Given the description of an element on the screen output the (x, y) to click on. 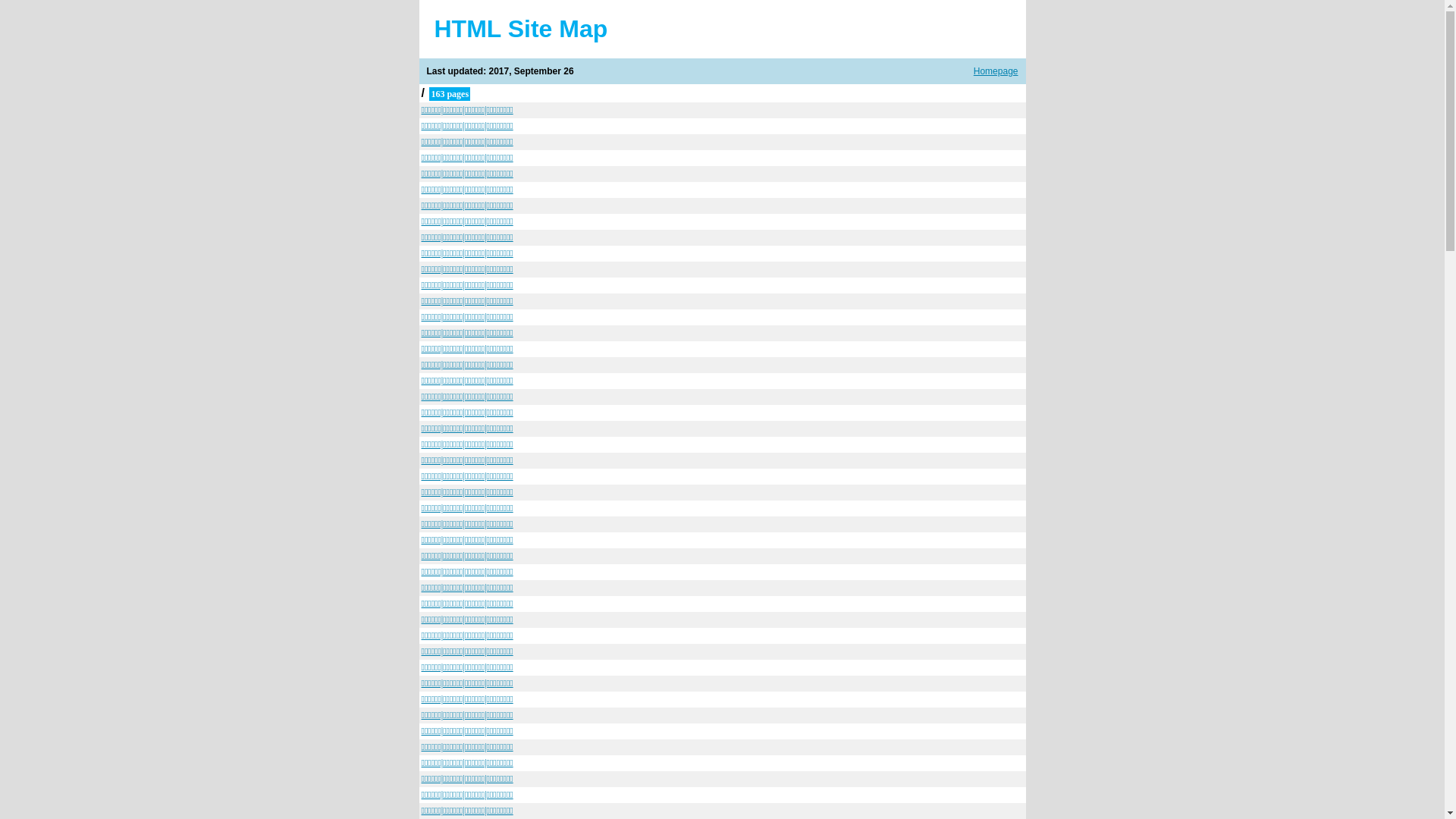
Homepage Element type: text (995, 70)
